Given the description of an element on the screen output the (x, y) to click on. 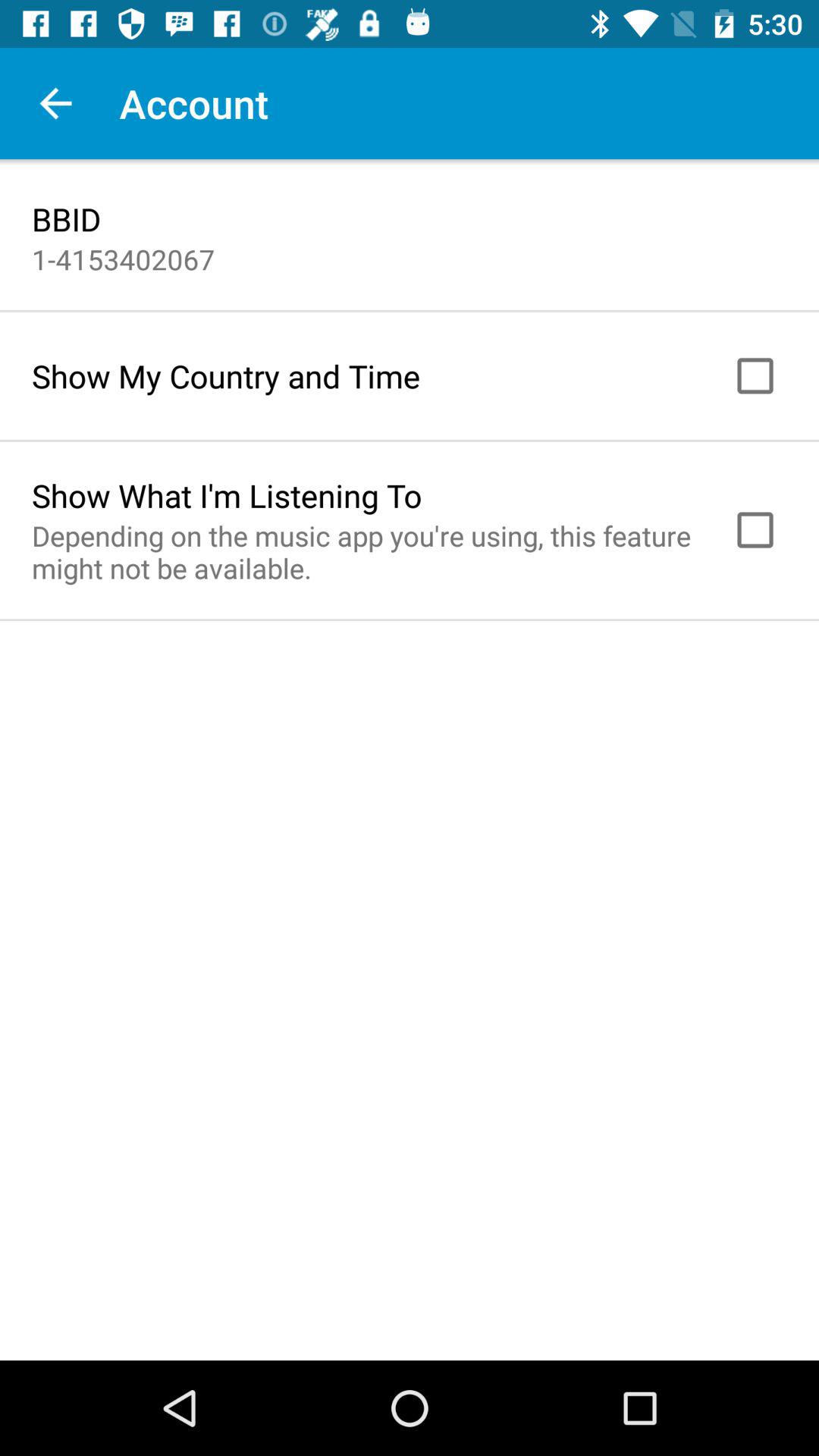
tap the icon to the left of the account (55, 103)
